Given the description of an element on the screen output the (x, y) to click on. 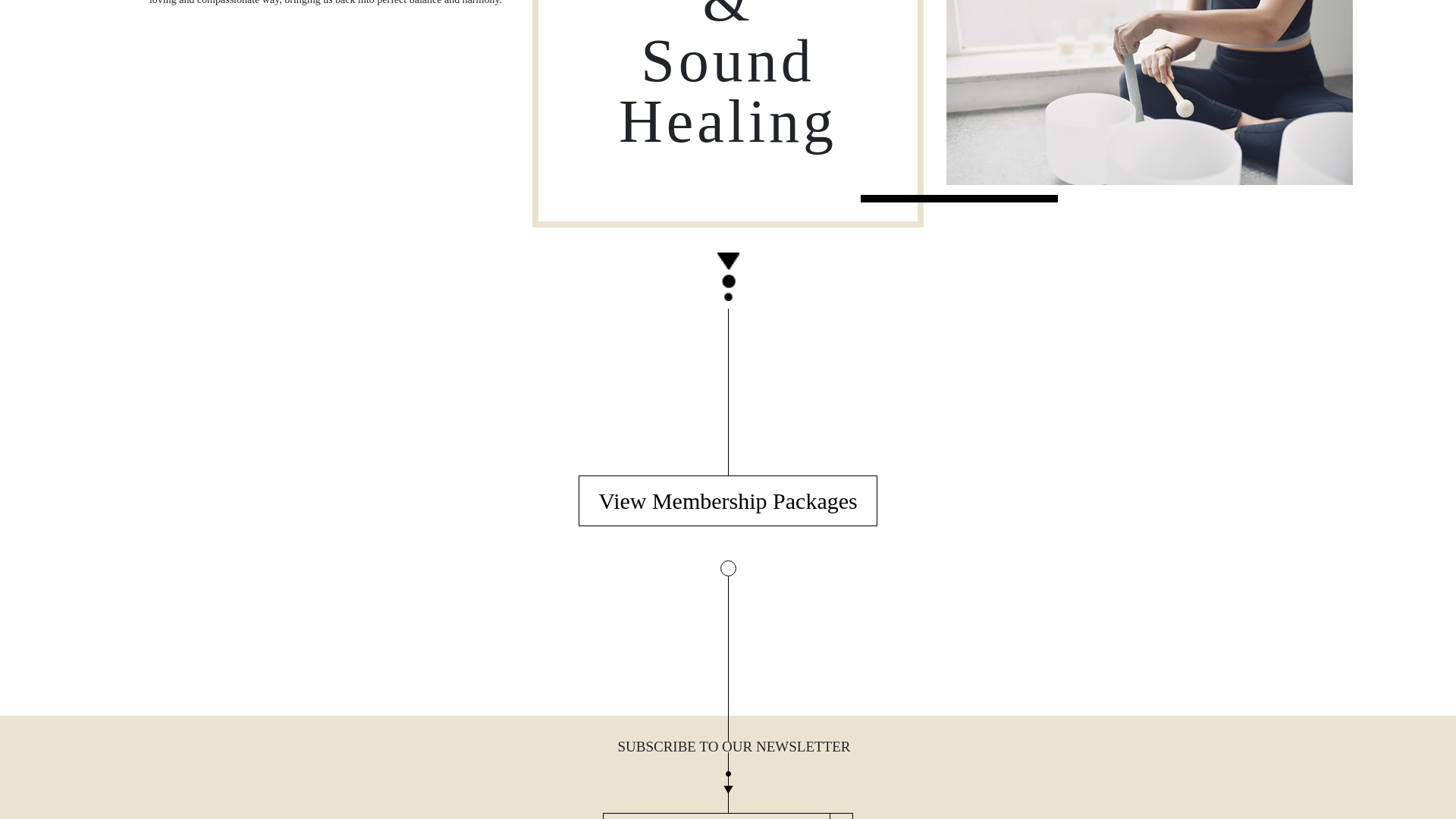
View Membership Packages (727, 500)
